Given the description of an element on the screen output the (x, y) to click on. 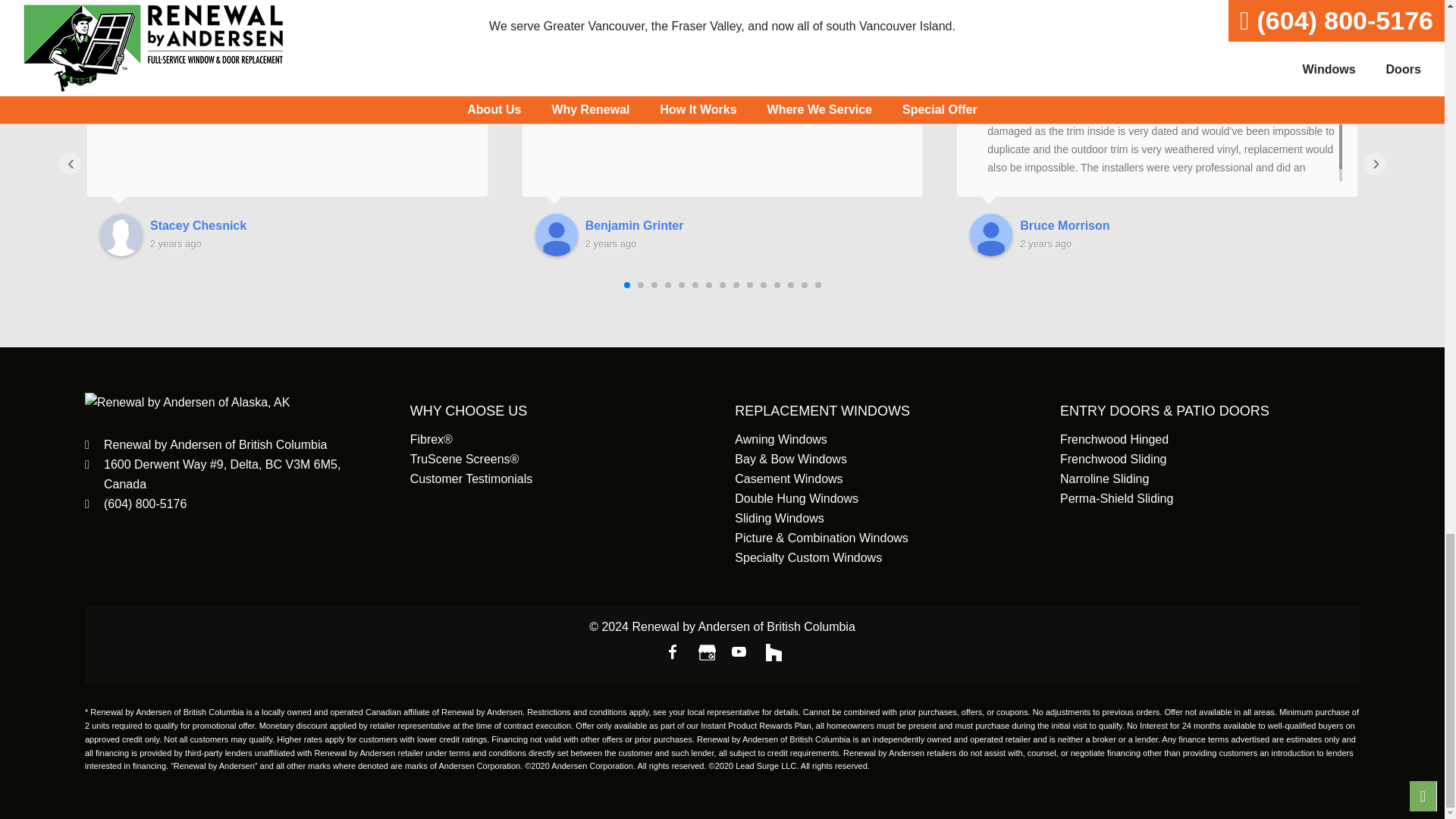
Benjamin Grinter (556, 234)
Stacey Chesnick (311, 226)
Stacey Chesnick (121, 234)
